Given the description of an element on the screen output the (x, y) to click on. 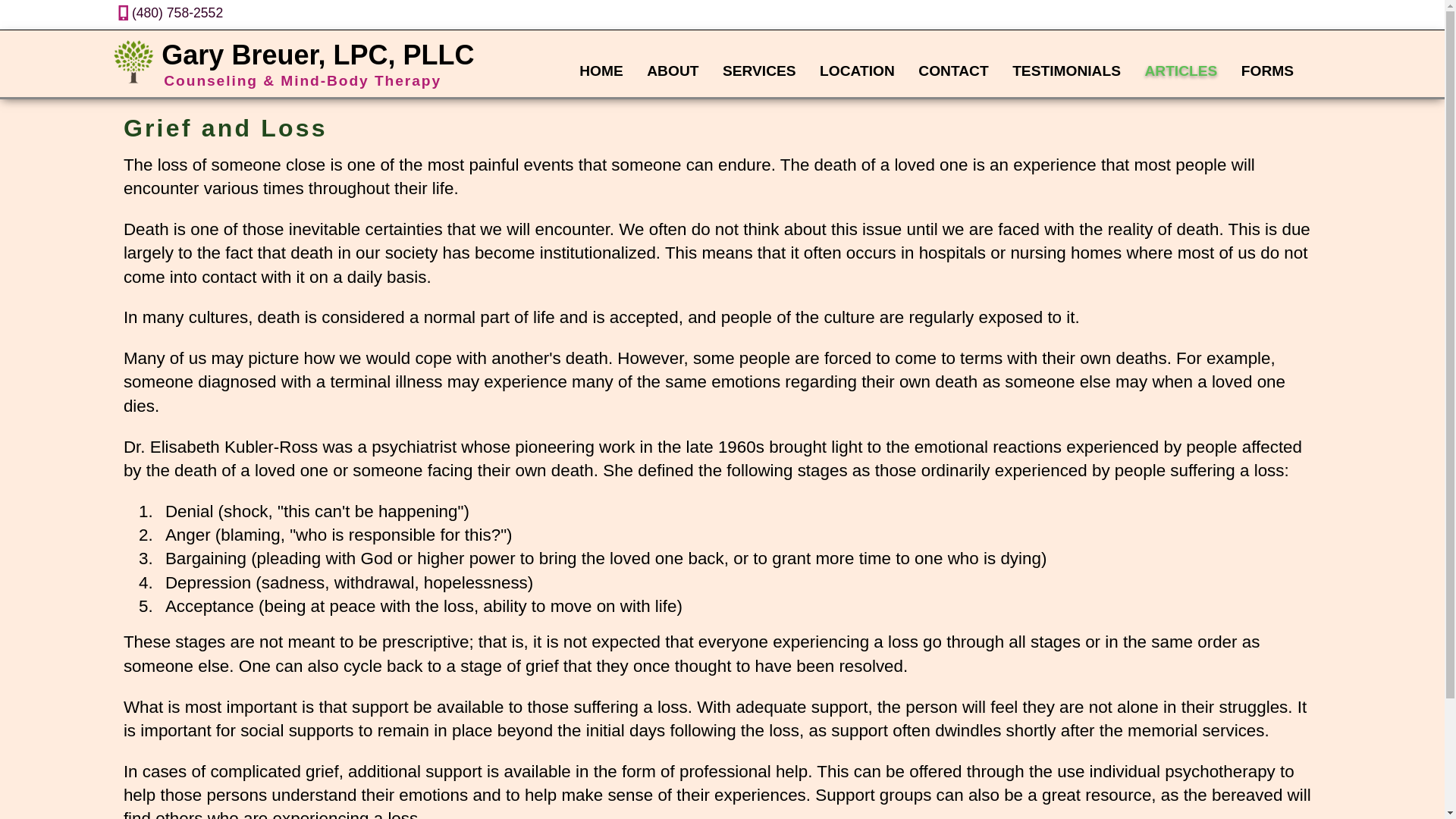
HOME (602, 71)
FORMS (1269, 71)
ABOUT (674, 71)
SERVICES (761, 71)
ARTICLES (1181, 71)
CONTACT (955, 71)
TESTIMONIALS (1068, 71)
LOCATION (858, 71)
